Given the description of an element on the screen output the (x, y) to click on. 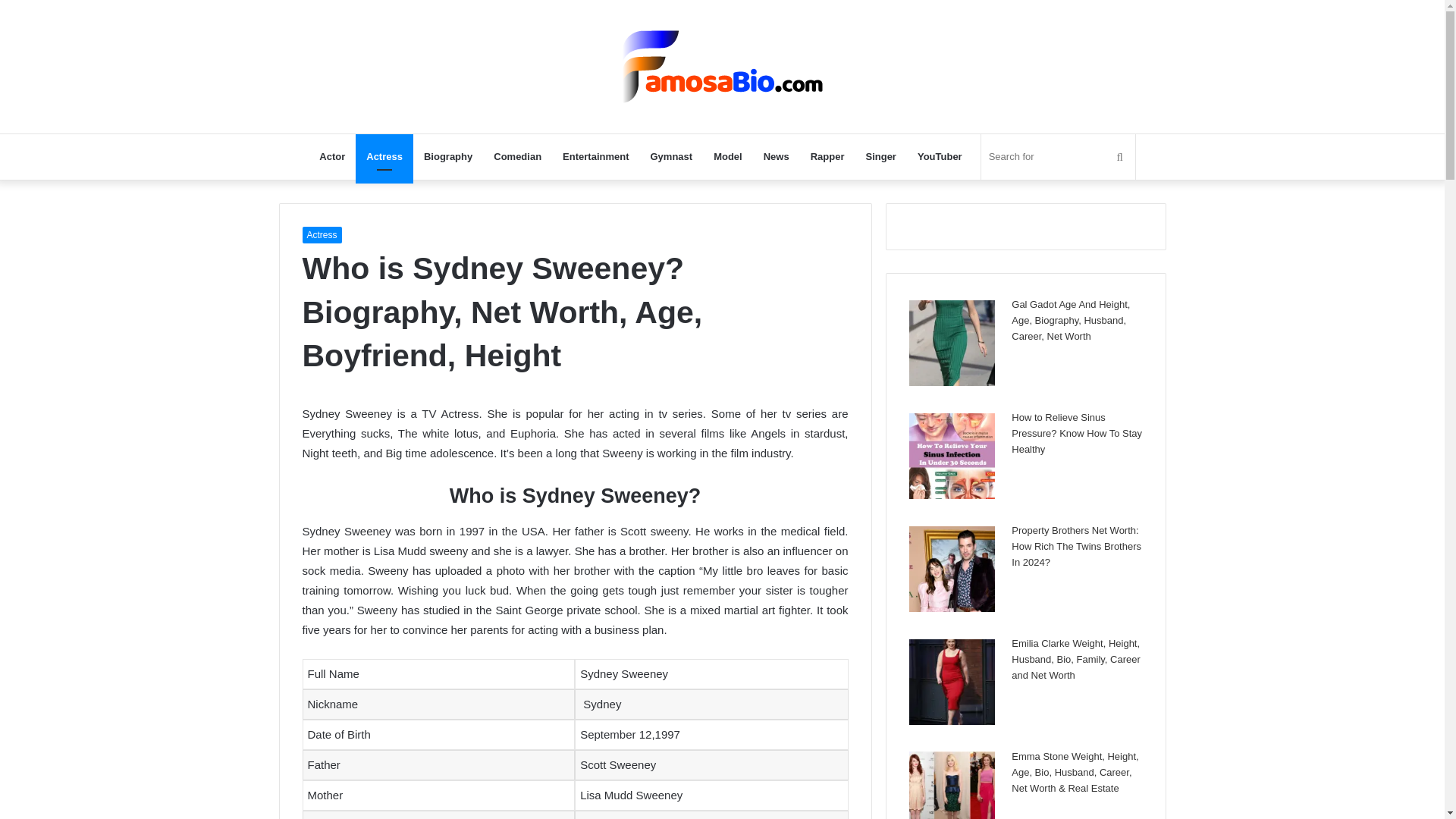
How to Relieve Sinus Pressure? Know How To Stay Healthy (1076, 433)
Singer (879, 156)
YouTuber (939, 156)
Model (727, 156)
News (775, 156)
Actress (384, 156)
Gymnast (671, 156)
Entertainment (595, 156)
Actress (320, 234)
